Given the description of an element on the screen output the (x, y) to click on. 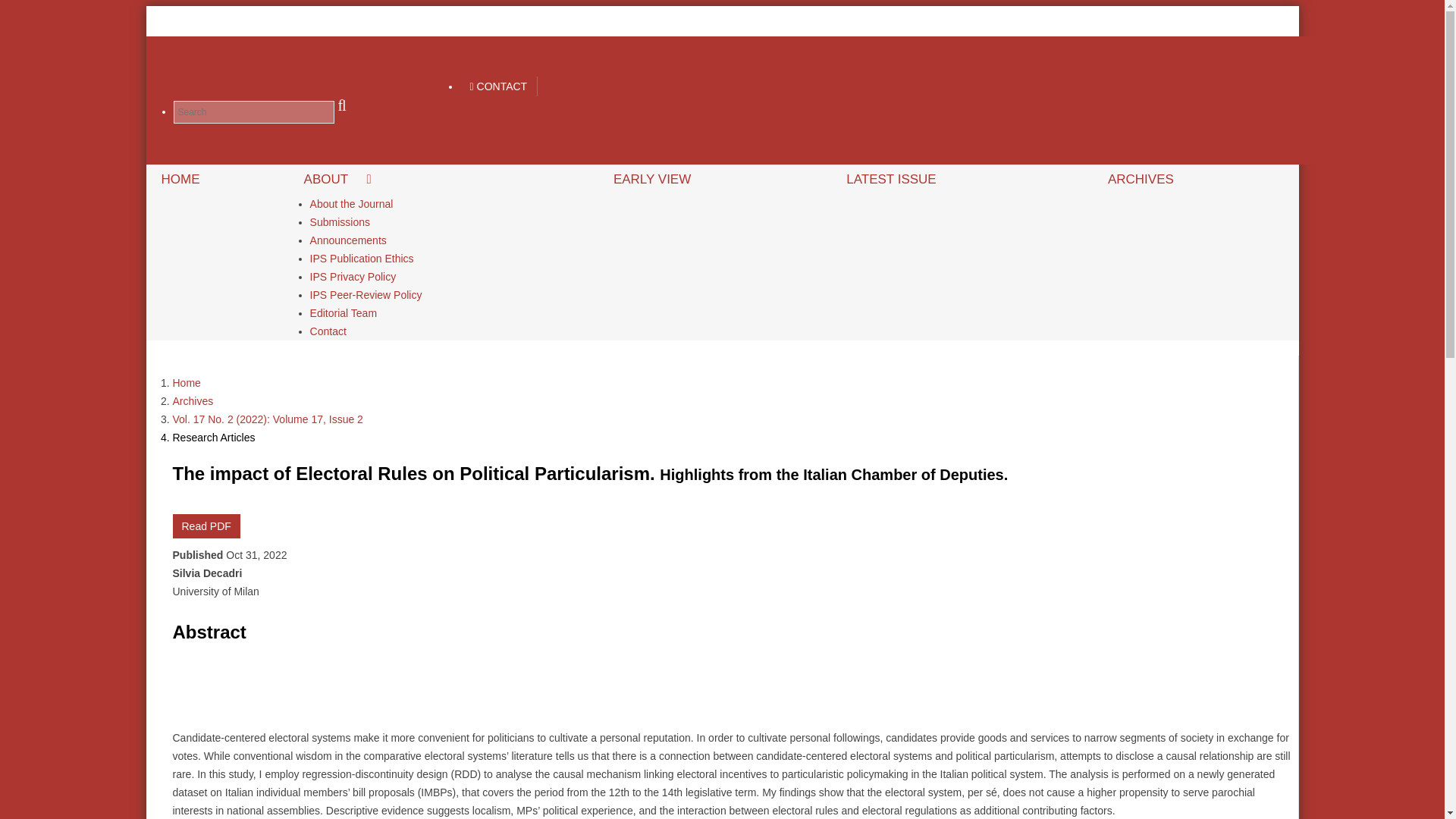
IPS Peer-Review Policy (366, 294)
CONTACT (498, 86)
IPS Privacy Policy (353, 276)
Submissions (339, 221)
PUBLISHING HOME (858, 20)
Announcements (348, 239)
ANNOUNCEMENTS (989, 20)
About the Journal (351, 203)
LATEST ISSUE (962, 179)
Editorial Team (343, 312)
IPS Publication Ethics (361, 258)
ABOUT (443, 179)
ENGLISH (1095, 20)
LOGIN (1263, 20)
EARLY VIEW (714, 179)
